Given the description of an element on the screen output the (x, y) to click on. 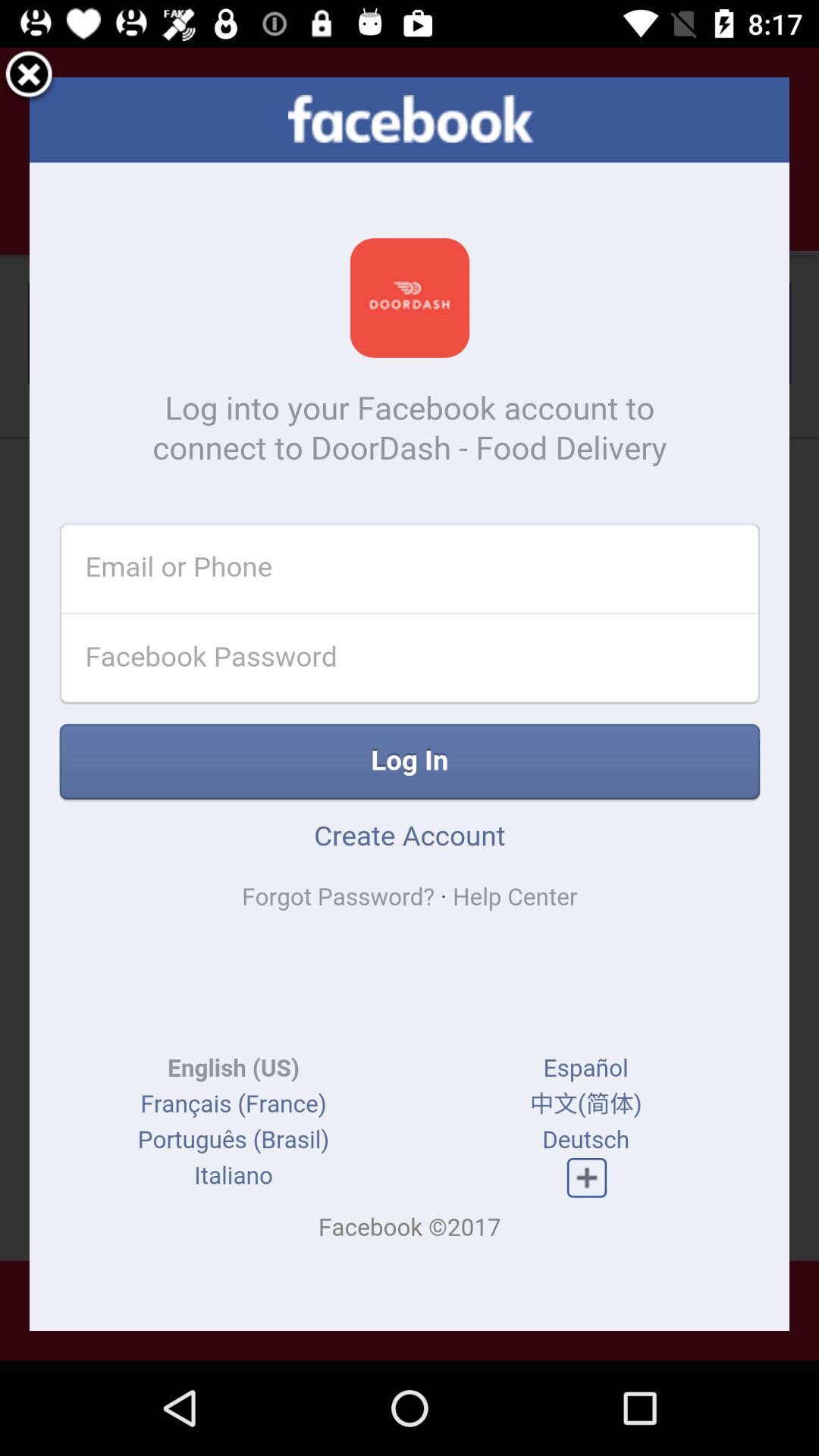
close the login menu (29, 76)
